Given the description of an element on the screen output the (x, y) to click on. 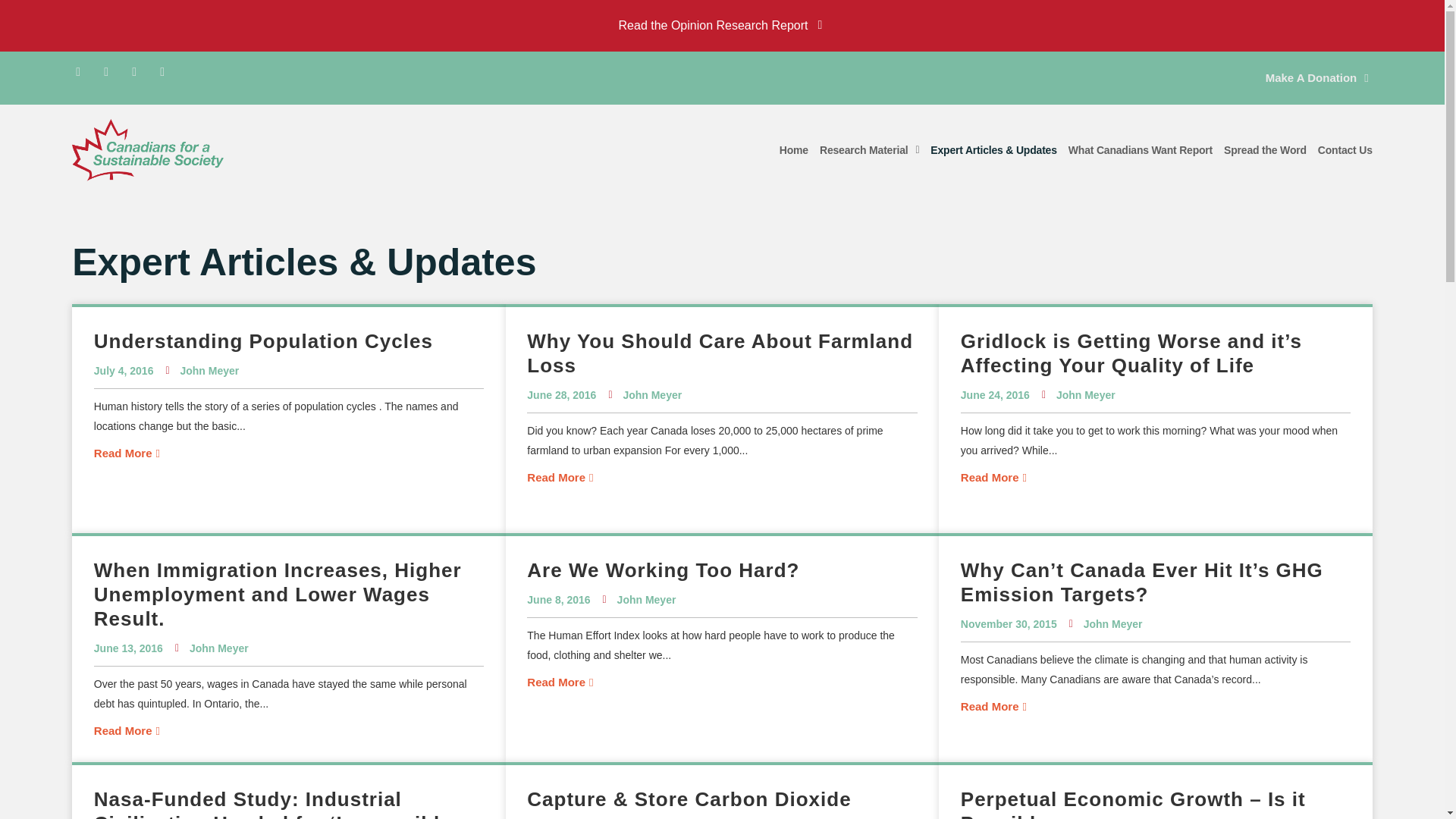
Contact Us (1345, 149)
Research Material (868, 149)
Make A Donation (1317, 77)
Spread the Word (1265, 149)
What Canadians Want Report (1140, 149)
